Given the description of an element on the screen output the (x, y) to click on. 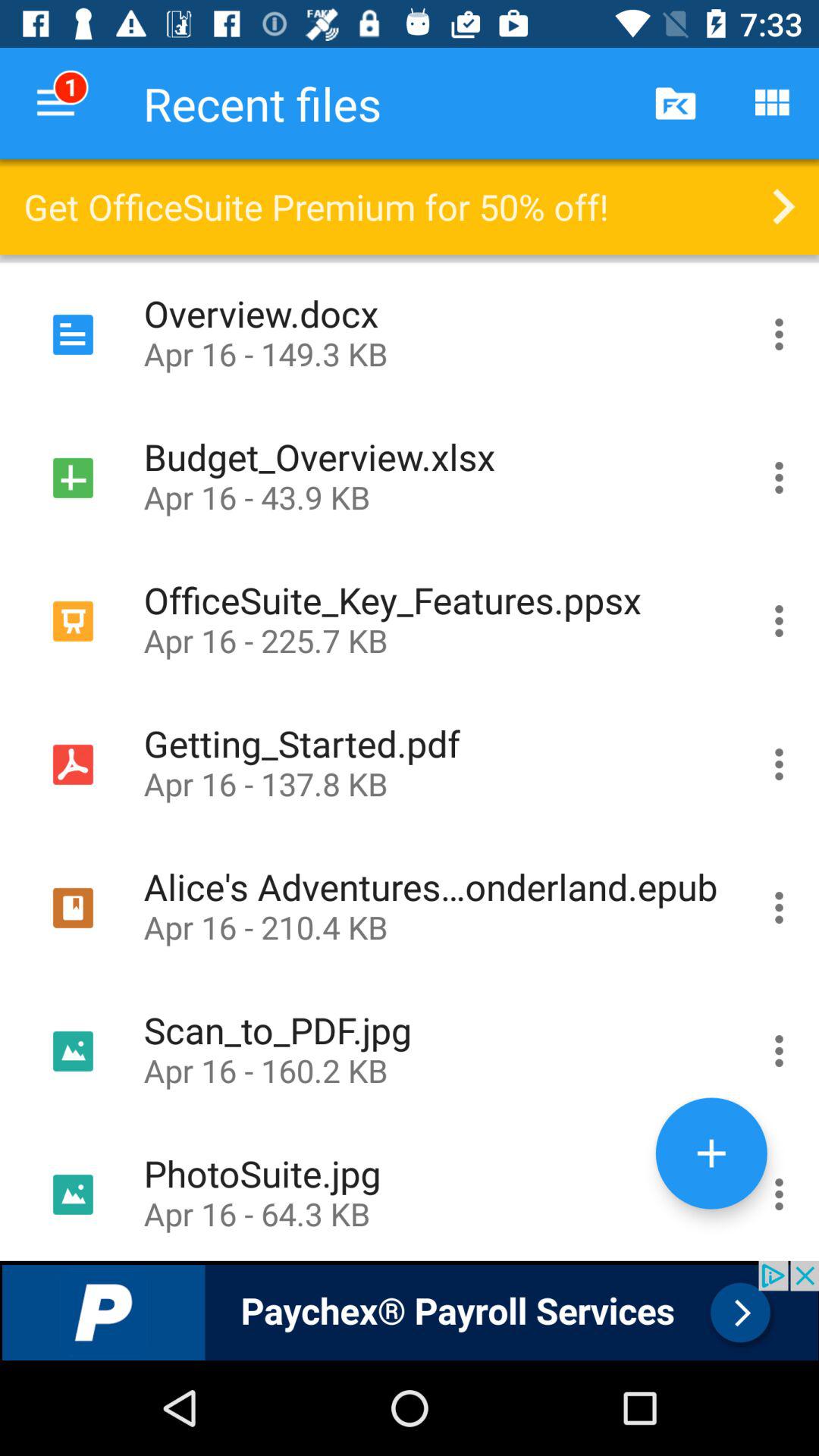
scan to pdf (779, 1050)
